Given the description of an element on the screen output the (x, y) to click on. 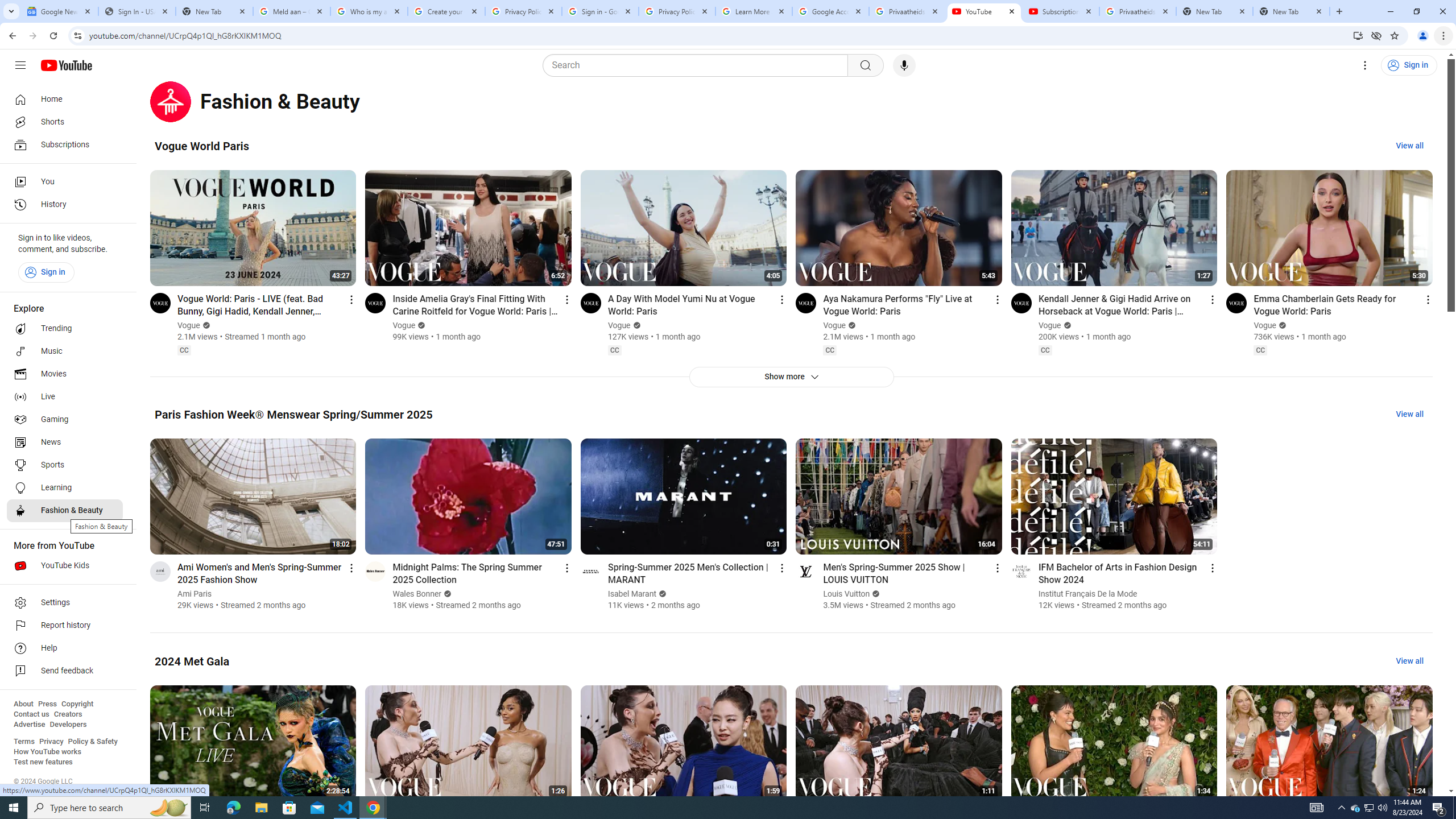
Louis Vuitton (846, 594)
Guide (20, 65)
Install YouTube (1358, 35)
Policy & Safety (91, 741)
Shorts (64, 121)
History (64, 204)
How YouTube works (47, 751)
YouTube Kids (64, 565)
